Given the description of an element on the screen output the (x, y) to click on. 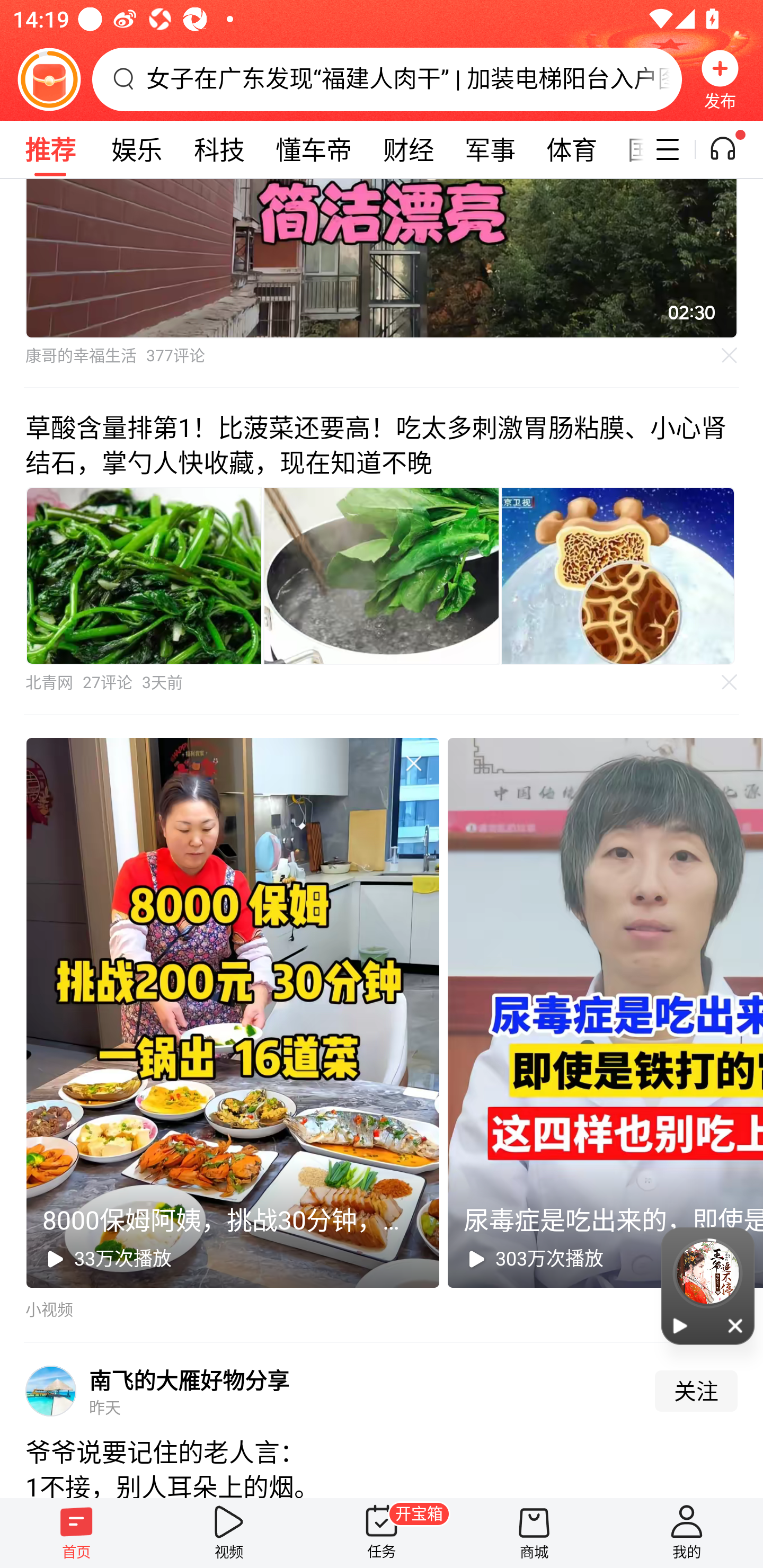
阅读赚金币 (48, 79)
发布 发布，按钮 (720, 78)
推荐 (49, 149)
娱乐 (136, 149)
科技 (218, 149)
懂车帝 (313, 149)
财经 (408, 149)
军事 (490, 149)
体育 (571, 149)
听一听开关 (732, 149)
视频播放器，双击屏幕打开播放控制 (381, 258)
不感兴趣 (729, 355)
内容图片 (143, 575)
内容图片 (381, 575)
内容图片 (617, 575)
不感兴趣 (729, 681)
不感兴趣 (413, 763)
播放 关闭 (708, 1286)
播放 (680, 1325)
关闭 (736, 1325)
南飞的大雁好物分享 (189, 1380)
南飞的大雁好物分享头像 (50, 1390)
关注 (695, 1390)
首页 (76, 1532)
视频 (228, 1532)
任务 开宝箱 (381, 1532)
商城 (533, 1532)
我的 (686, 1532)
